Given the description of an element on the screen output the (x, y) to click on. 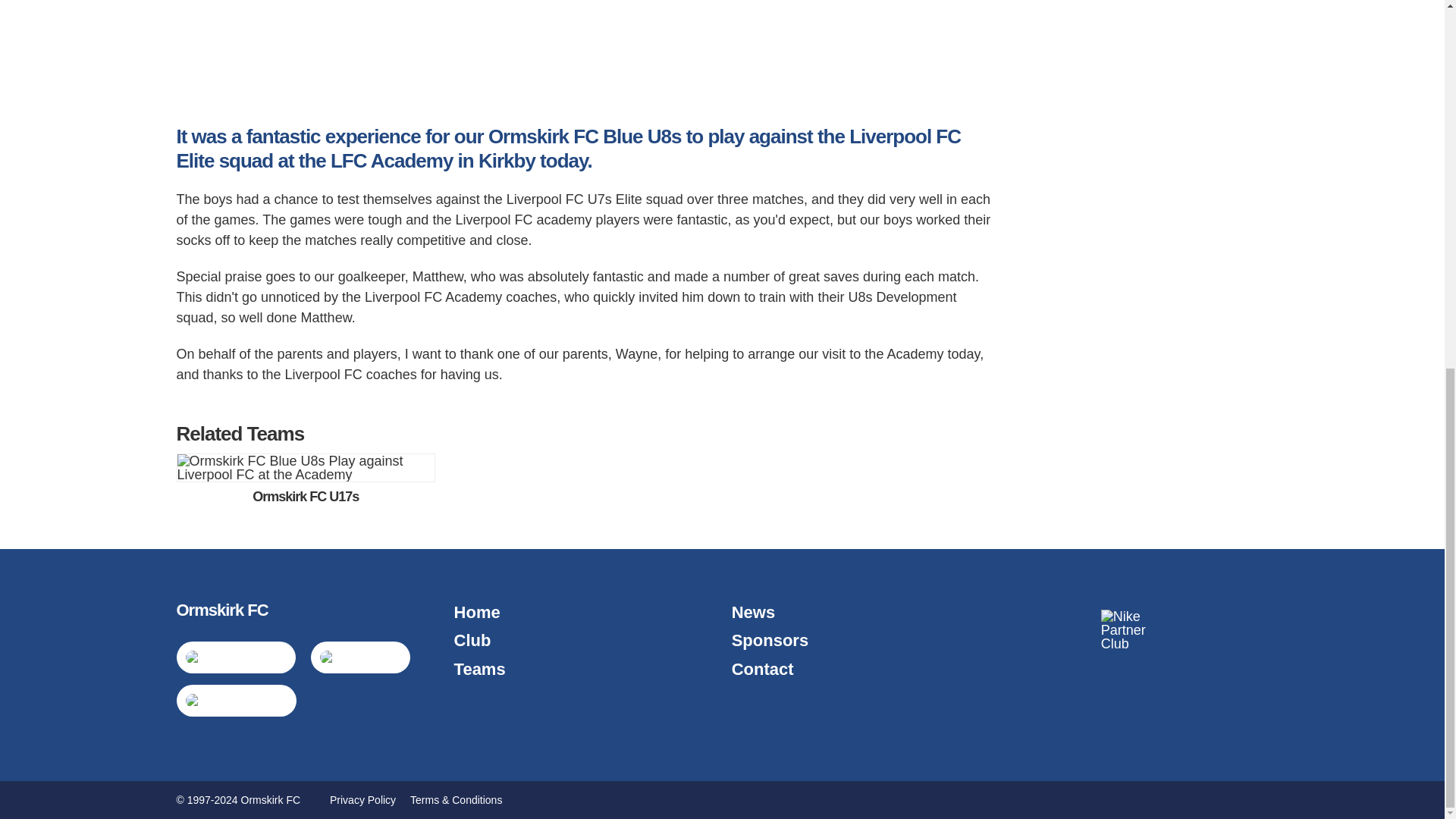
Contact (762, 669)
Club (473, 640)
Ormskirk FC U17s (305, 478)
U17s (305, 478)
Teams (479, 669)
Sponsors (770, 640)
News (753, 611)
Privacy Policy (363, 799)
Home (477, 611)
